Given the description of an element on the screen output the (x, y) to click on. 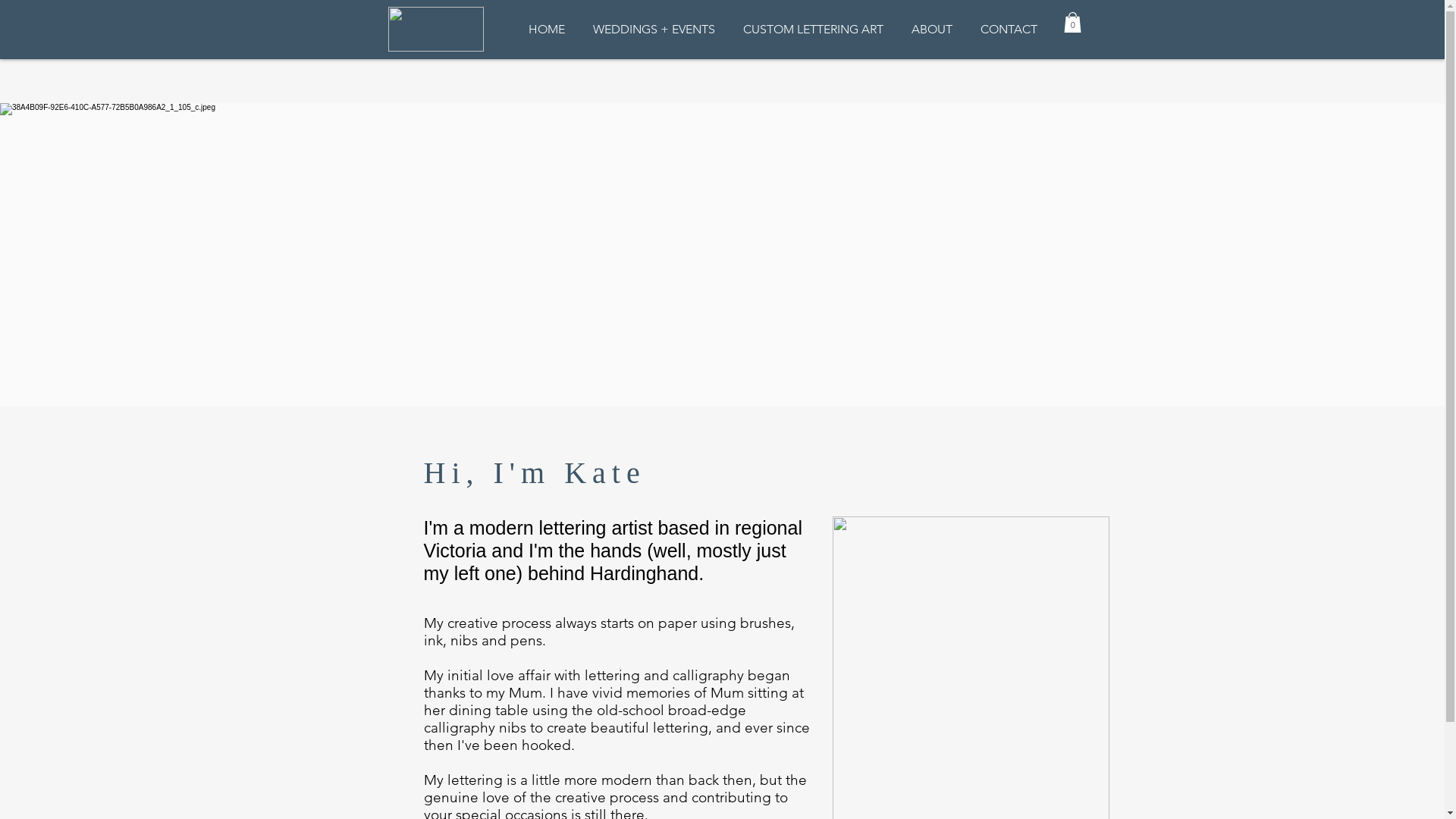
WEDDINGS + EVENTS Element type: text (654, 29)
CUSTOM LETTERING ART Element type: text (813, 29)
ABOUT Element type: text (931, 29)
HOME Element type: text (546, 29)
CONTACT Element type: text (1008, 29)
Hardinghand primary logo (portrait) WHITE.png Element type: hover (435, 28)
0 Element type: text (1071, 22)
